Given the description of an element on the screen output the (x, y) to click on. 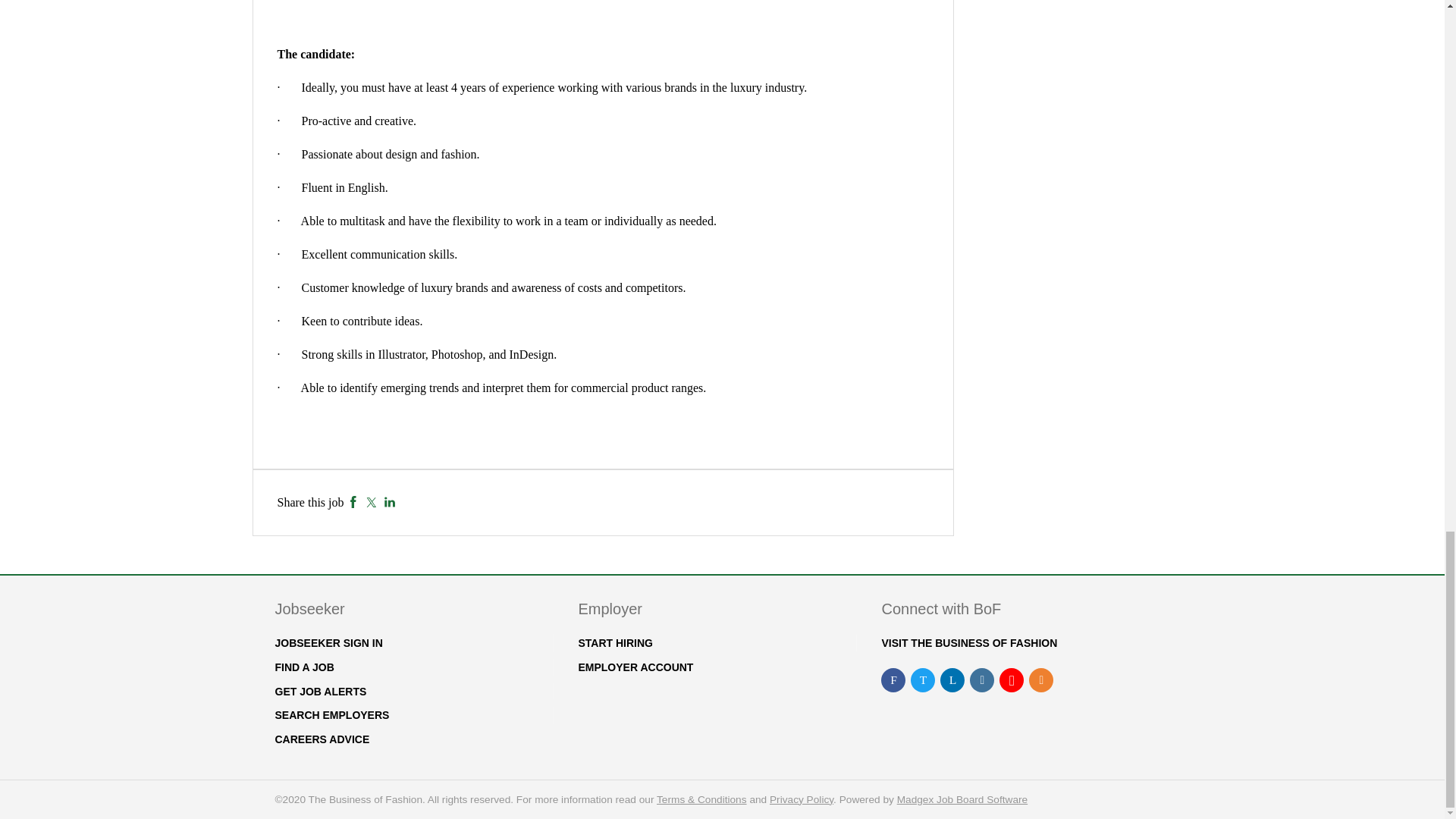
Facebook (353, 502)
LinkedIn (390, 502)
Twitter (371, 502)
JOBSEEKER SIGN IN (328, 643)
FIND A JOB (304, 666)
